Given the description of an element on the screen output the (x, y) to click on. 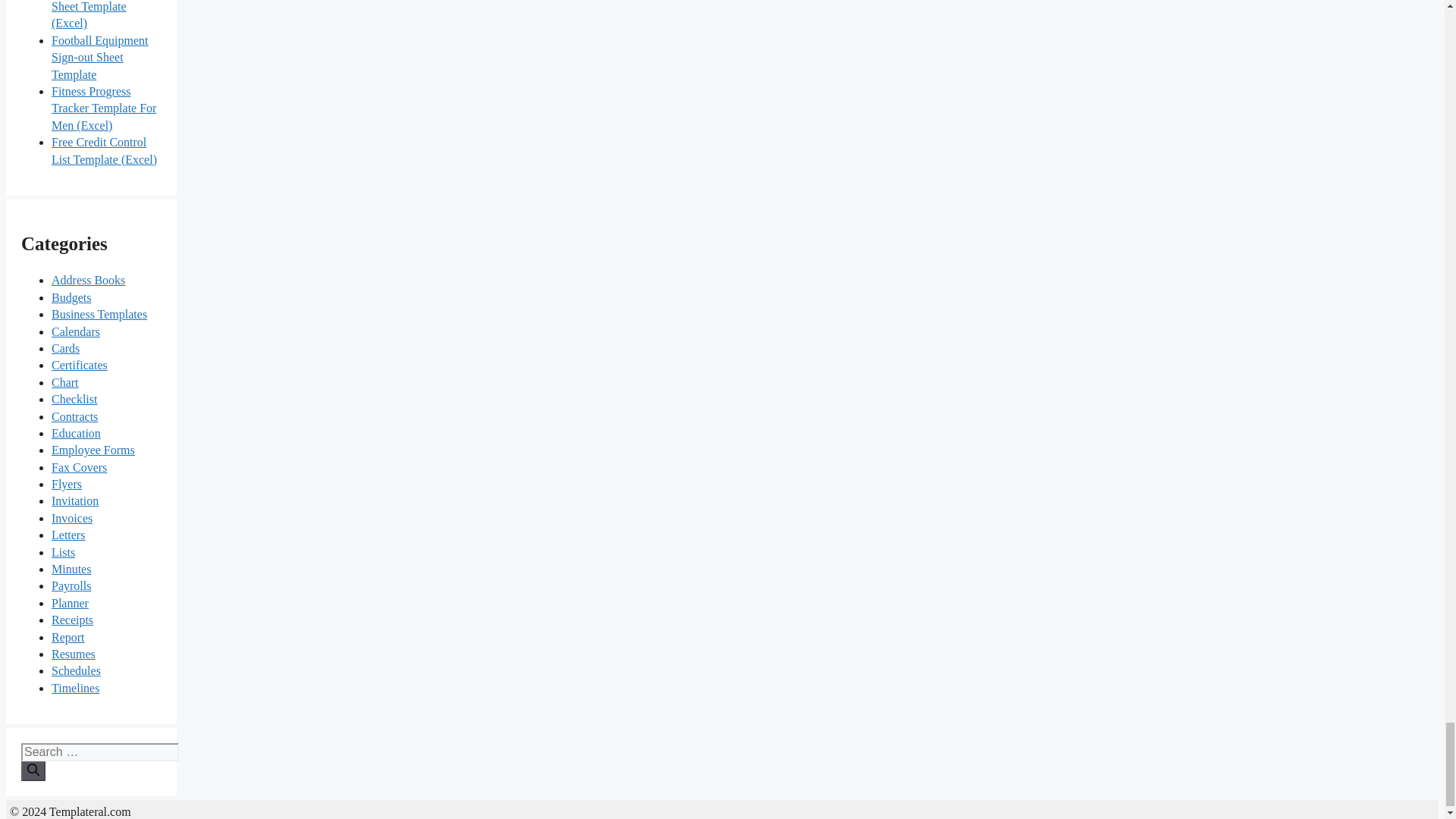
Cards (65, 348)
Search for: (100, 751)
Chart (64, 382)
Calendars (75, 331)
Contracts (73, 416)
Certificates (78, 364)
Employee Forms (92, 449)
Business Templates (98, 314)
Checklist (73, 399)
Budgets (70, 297)
Address Books (87, 279)
Education (75, 432)
Football Equipment Sign-out Sheet Template (99, 57)
